Given the description of an element on the screen output the (x, y) to click on. 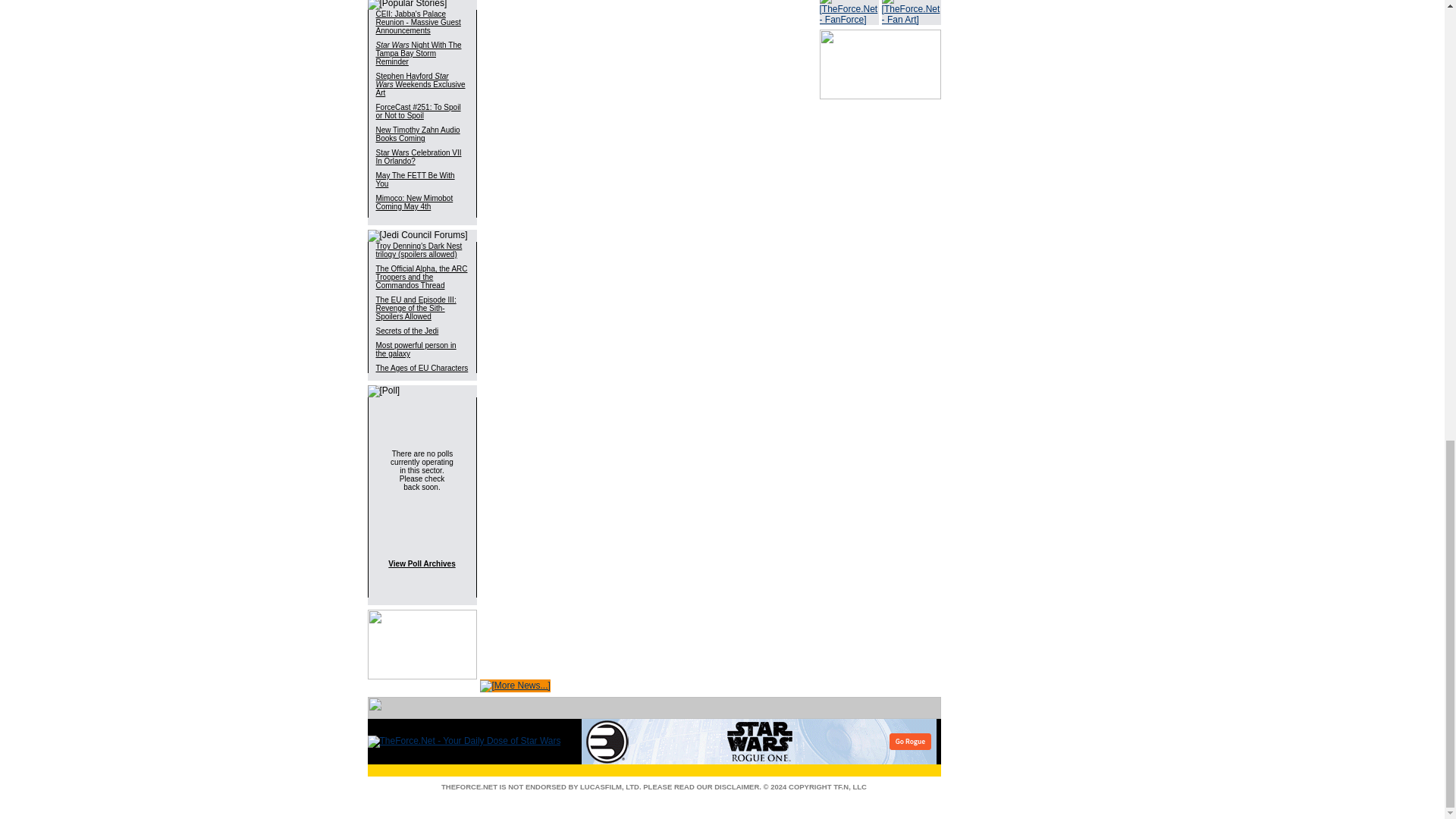
New Timothy Zahn Audio Books Coming (417, 134)
View Poll Archives (421, 563)
Star Wars Celebration VII In Orlando? (418, 156)
Most powerful person in the galaxy (416, 349)
Mimoco: New Mimobot Coming May 4th (413, 202)
May The FETT Be With You (414, 179)
Stephen Hayford Star Wars Weekends Exclusive Art (420, 84)
Star Wars Night With The Tampa Bay Storm Reminder (418, 53)
Secrets of the Jedi (407, 330)
